Given the description of an element on the screen output the (x, y) to click on. 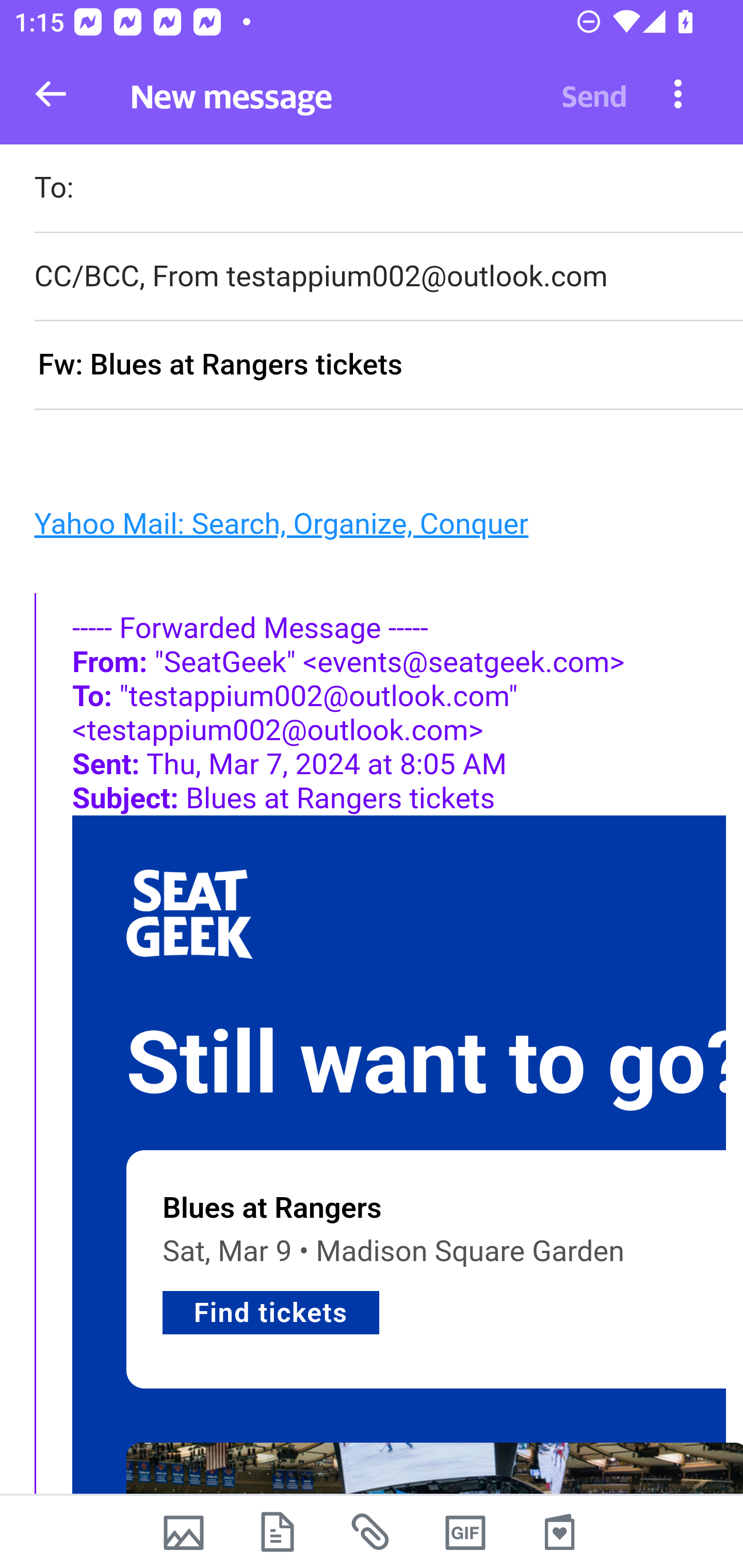
Back (50, 93)
Send (594, 93)
More options (677, 93)
To: (387, 189)
CC/BCC, From testappium002@outlook.com (387, 276)
Fw: Blues at Rangers tickets (387, 365)
Yahoo Mail: Search, Organize, Conquer (280, 522)
Still want to go? (434, 1063)
Blues at Rangers (272, 1208)
Find tickets (271, 1312)
Camera photos (183, 1531)
Device files (277, 1531)
Recent attachments from mail (371, 1531)
GIFs (465, 1531)
Stationery (559, 1531)
